Given the description of an element on the screen output the (x, y) to click on. 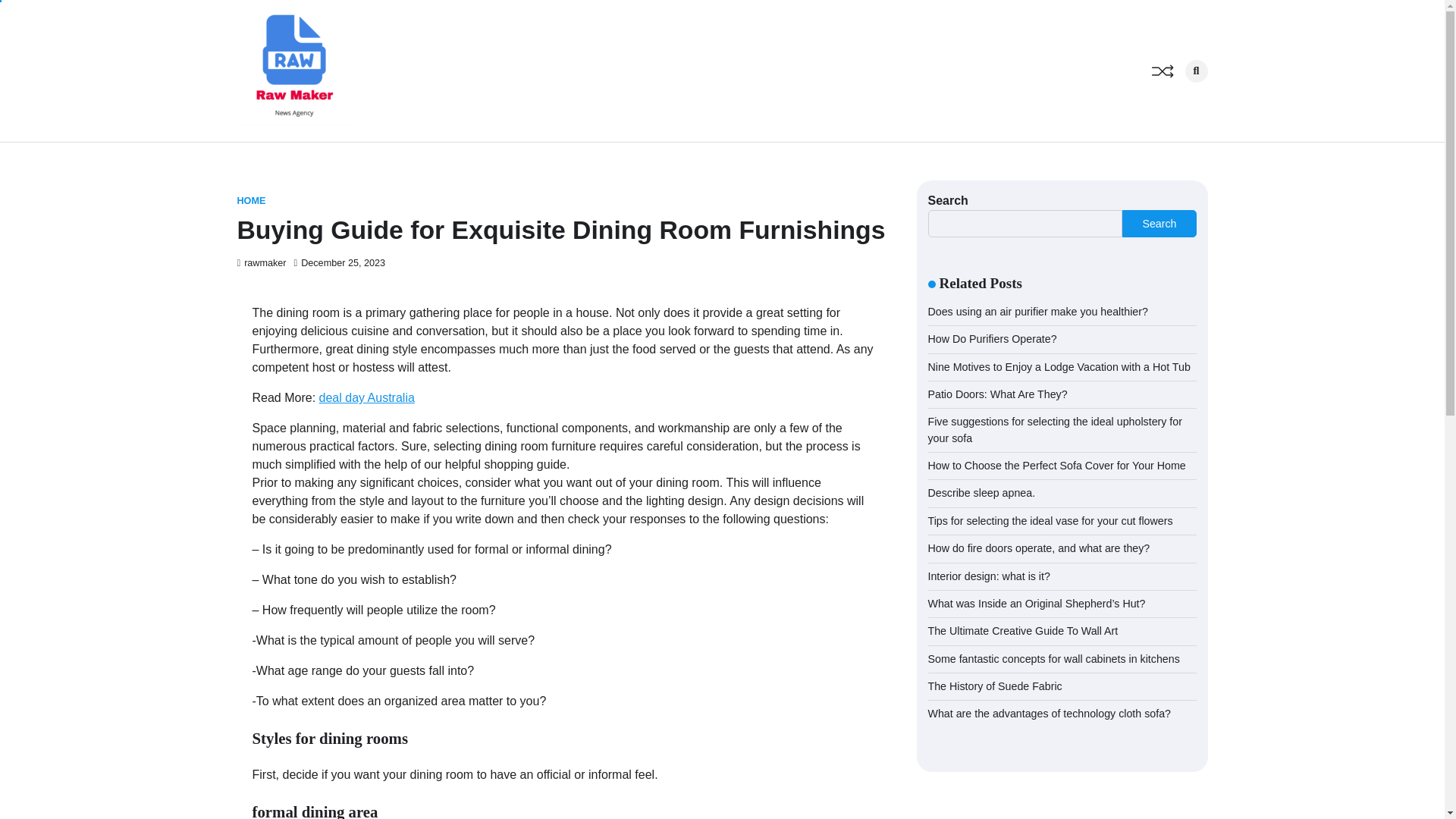
HOME (249, 201)
The History of Suede Fabric (995, 686)
What are the advantages of technology cloth sofa? (1049, 713)
Search (1170, 103)
deal day Australia (366, 397)
Patio Doors: What Are They? (997, 394)
Some fantastic concepts for wall cabinets in kitchens (1053, 658)
Does using an air purifier make you healthier? (1038, 311)
Interior design: what is it? (988, 576)
How do fire doors operate, and what are they? (1039, 548)
